Given the description of an element on the screen output the (x, y) to click on. 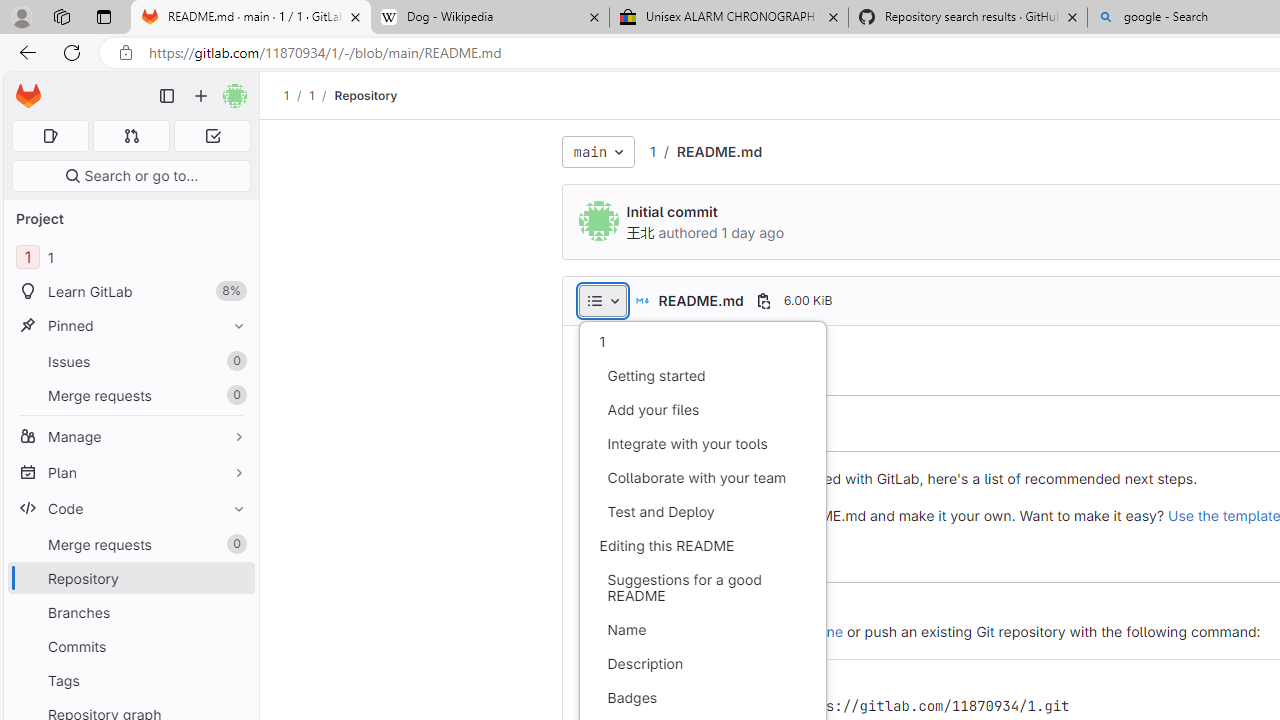
Issues0 (130, 361)
README.md (718, 151)
Merge requests0 (130, 543)
Tags (130, 679)
Assigned issues 0 (50, 136)
Getting started (701, 375)
Test and Deploy (701, 511)
Pin Commits (234, 646)
